Given the description of an element on the screen output the (x, y) to click on. 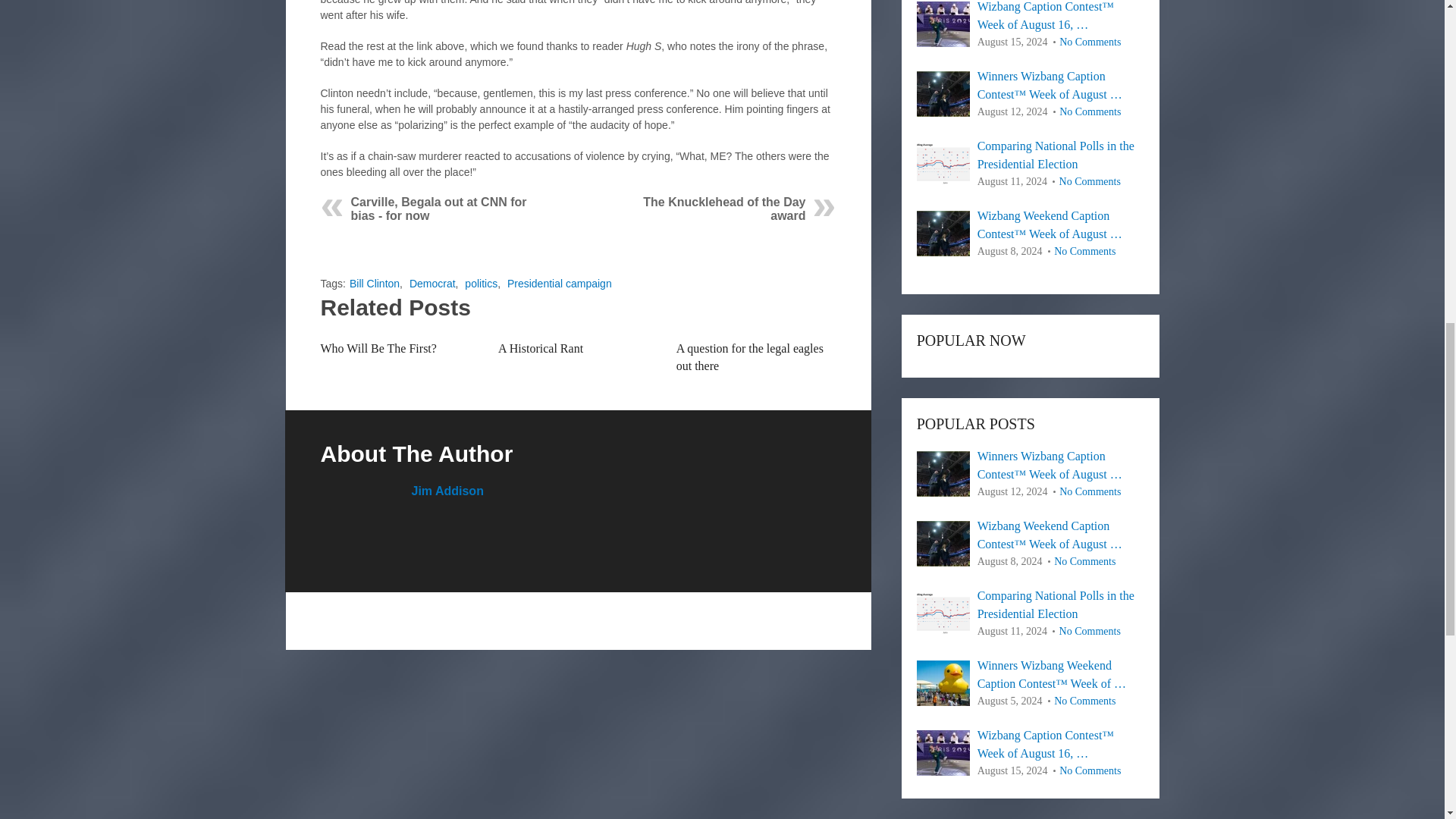
Bill Clinton (373, 283)
Who Will Be The First? (377, 348)
Democrat (432, 283)
Who Will Be The First? (377, 348)
A question for the legal eagles out there (750, 356)
A question for the legal eagles out there (750, 356)
Presidential campaign (558, 283)
The Knucklehead of the Day award (724, 208)
A Historical Rant (540, 348)
A Historical Rant (540, 348)
